Given the description of an element on the screen output the (x, y) to click on. 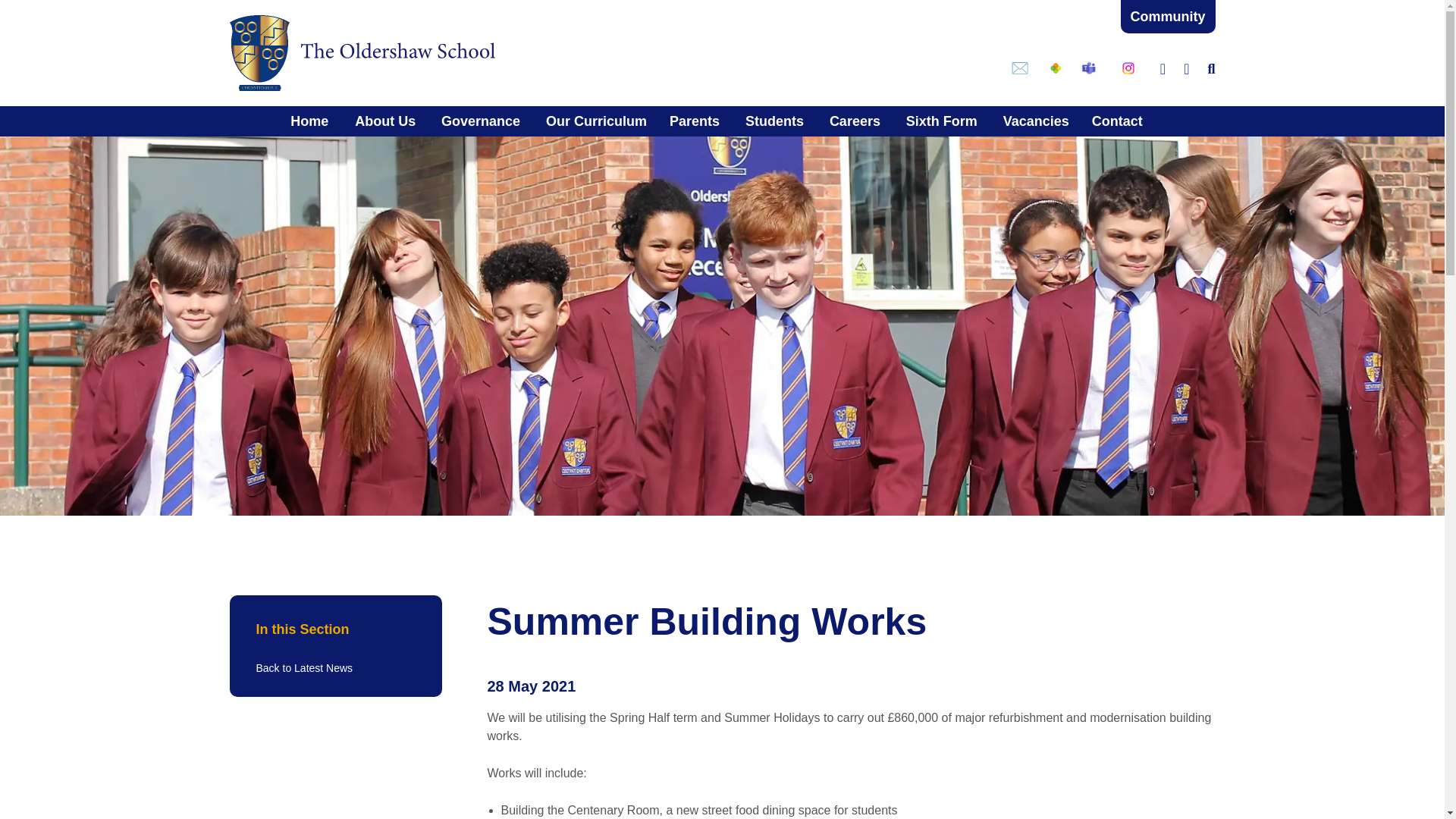
Home (316, 121)
About Us (384, 121)
Our Curriculum (596, 121)
Arbor (1055, 68)
Community (1168, 16)
Parents (694, 121)
Microsoft Teams (1088, 68)
Instagram (1128, 68)
Governance (480, 121)
Student Emails (1019, 68)
